Given the description of an element on the screen output the (x, y) to click on. 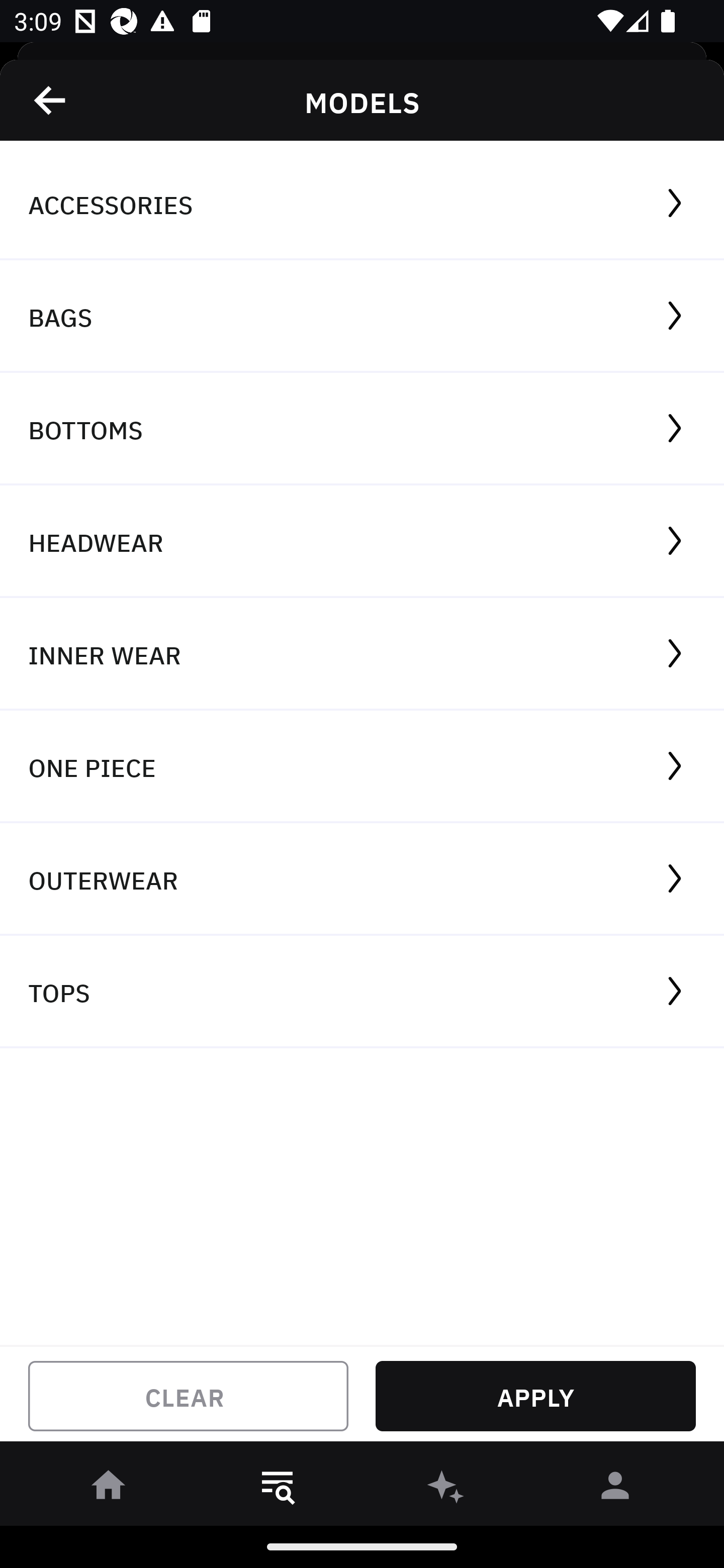
 (50, 100)
ACCESSORIES (362, 203)
BAGS (362, 316)
BOTTOMS (362, 429)
HEADWEAR (362, 541)
INNER WEAR (362, 653)
ONE PIECE (362, 766)
OUTERWEAR (362, 879)
TOPS (362, 992)
CLEAR  (188, 1396)
APPLY (535, 1396)
󰋜 (108, 1488)
󱎸 (277, 1488)
󰫢 (446, 1488)
󰀄 (615, 1488)
